Given the description of an element on the screen output the (x, y) to click on. 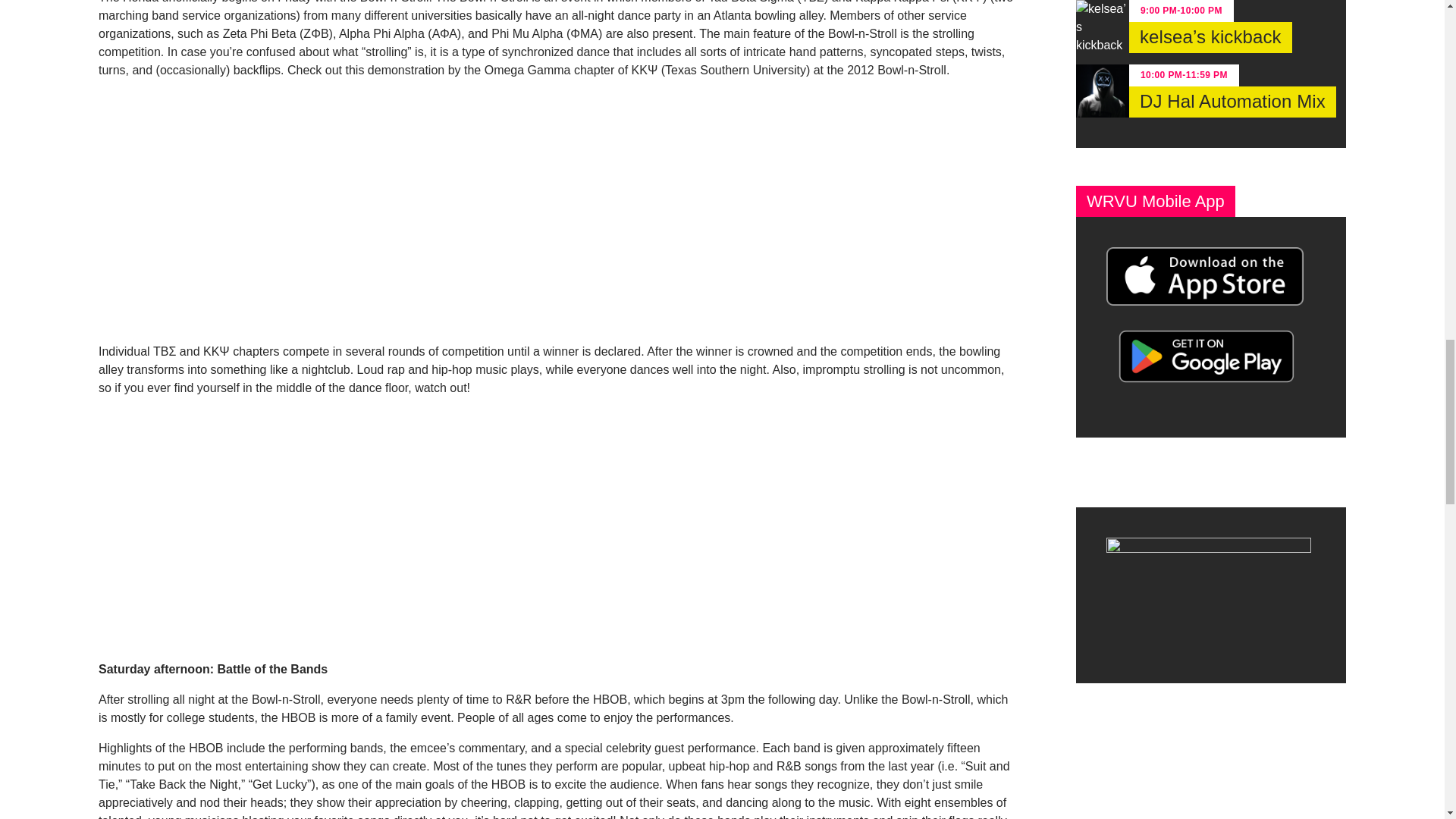
DJ Hal Automation Mix (1232, 101)
